Given the description of an element on the screen output the (x, y) to click on. 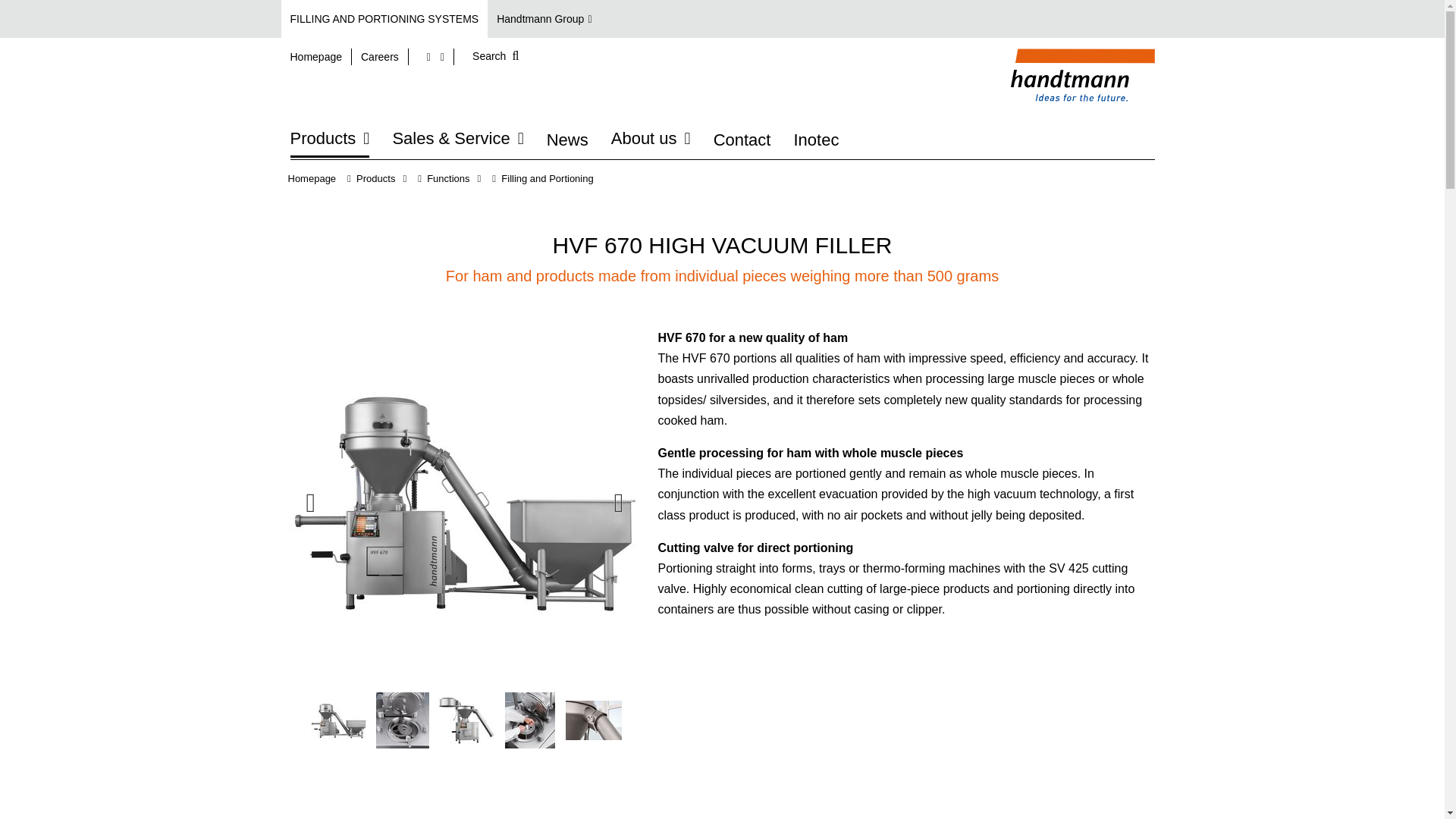
Careers (380, 56)
Products (329, 138)
Homepage (316, 56)
Handtmann Group (548, 18)
